Given the description of an element on the screen output the (x, y) to click on. 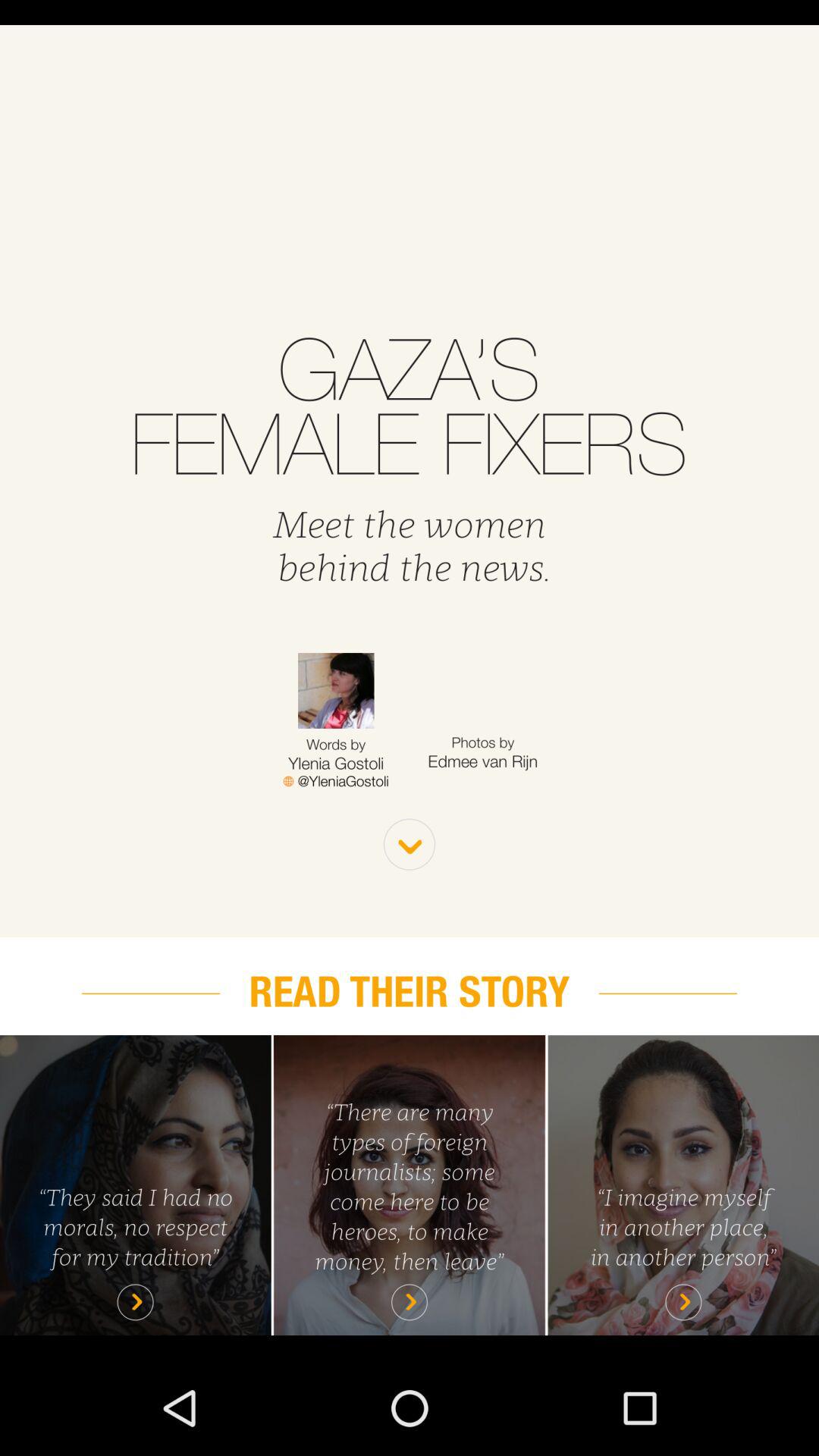
click to play story (135, 1184)
